Given the description of an element on the screen output the (x, y) to click on. 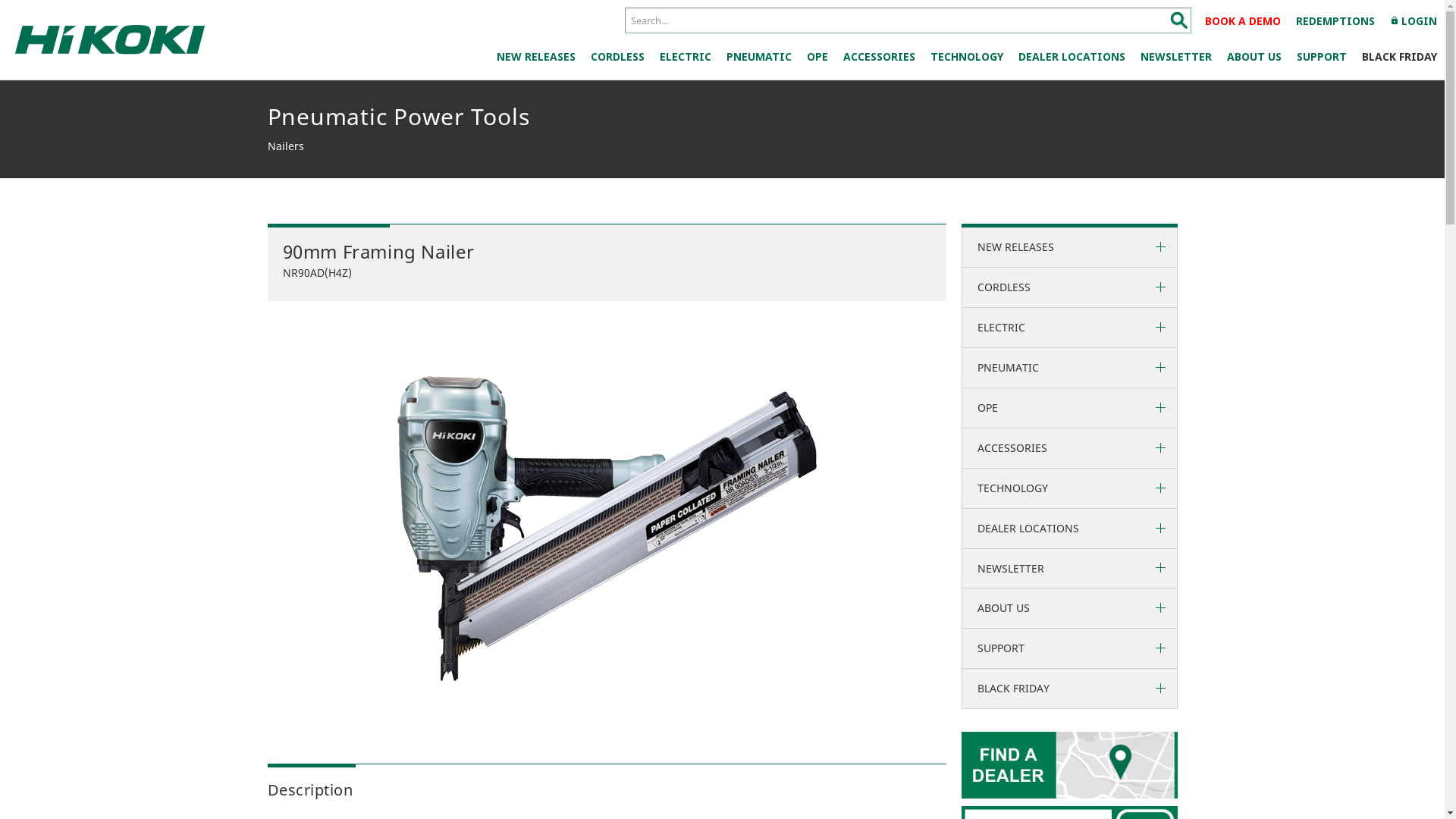
PNEUMATIC Element type: text (1068, 367)
SUPPORT Element type: text (1068, 648)
OPE Element type: text (817, 56)
TECHNOLOGY Element type: text (1068, 488)
ACCESSORIES Element type: text (878, 56)
ELECTRIC Element type: text (685, 56)
NEW RELEASES Element type: text (536, 56)
REDEMPTIONS Element type: text (1335, 21)
NEW RELEASES Element type: text (1068, 246)
BLACK FRIDAY Element type: text (1399, 56)
lockLOGIN Element type: text (1413, 21)
CORDLESS Element type: text (617, 56)
BLACK FRIDAY Element type: text (1068, 688)
ABOUT US Element type: text (1254, 56)
SUPPORT Element type: text (1321, 56)
DEALER LOCATIONS Element type: text (1068, 528)
CORDLESS Element type: text (1068, 287)
OPE Element type: text (1068, 407)
PNEUMATIC Element type: text (758, 56)
ACCESSORIES Element type: text (1068, 447)
ABOUT US Element type: text (1068, 607)
BOOK A DEMO Element type: text (1242, 21)
TECHNOLOGY Element type: text (966, 56)
NEWSLETTER Element type: text (1175, 56)
NEWSLETTER Element type: text (1068, 568)
DEALER LOCATIONS Element type: text (1071, 56)
ELECTRIC Element type: text (1068, 327)
